Given the description of an element on the screen output the (x, y) to click on. 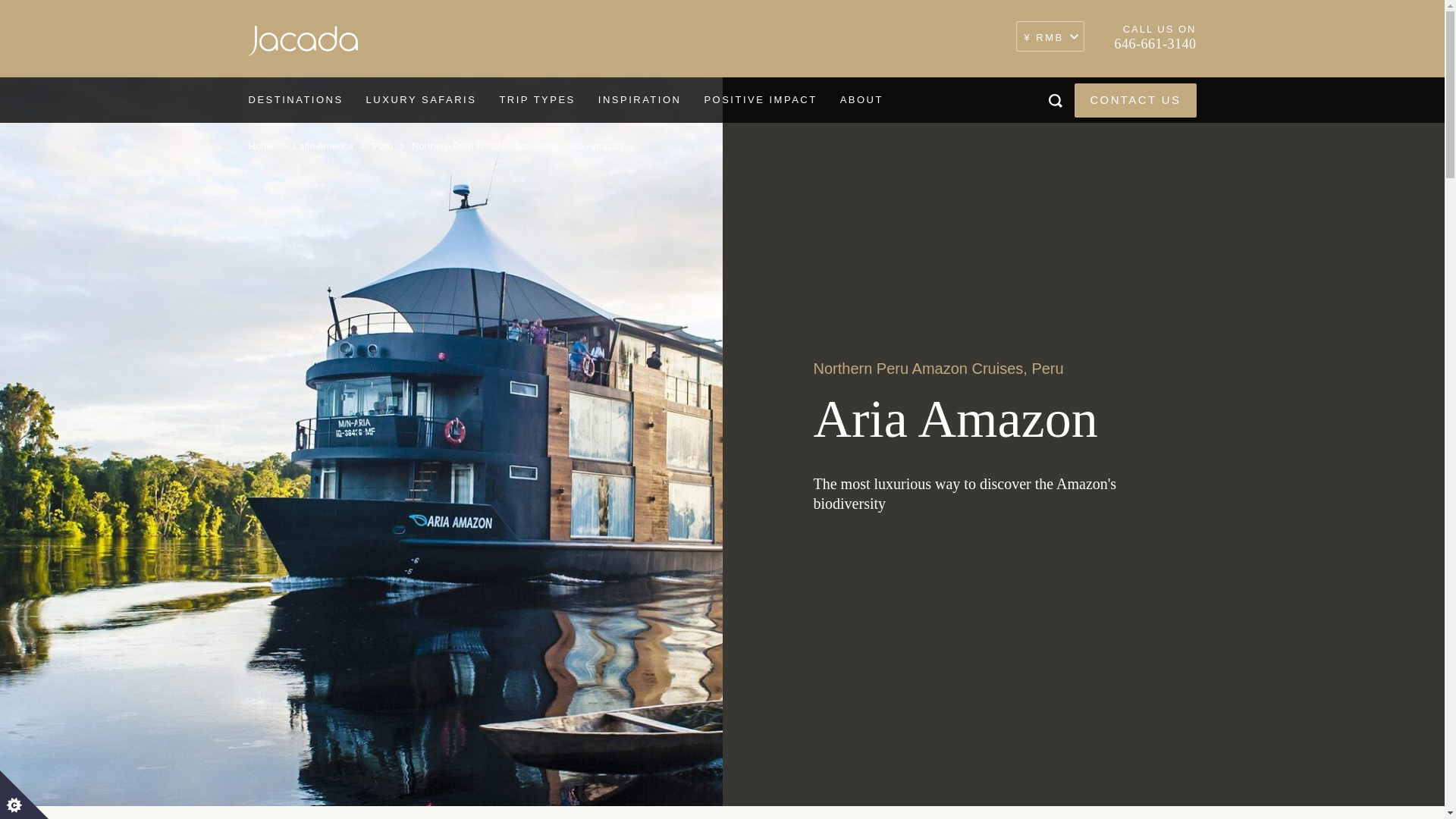
DESTINATIONS (294, 99)
Jacada Travel (303, 43)
CNY (1049, 37)
646-661-3140 (1155, 43)
